Given the description of an element on the screen output the (x, y) to click on. 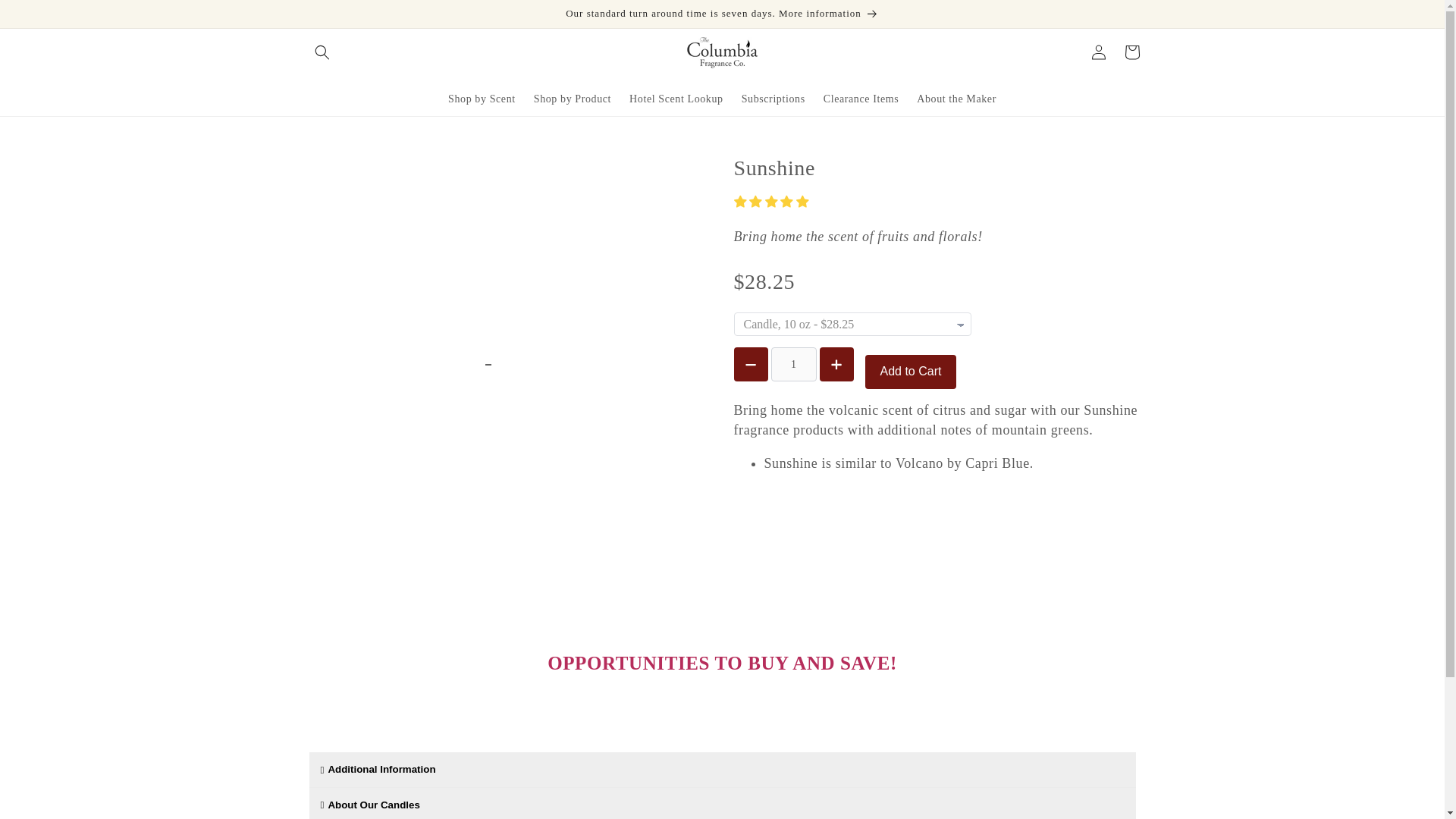
Add to Cart (910, 371)
Hotel Scent Lookup (676, 99)
Clearance Items (860, 99)
1 (792, 364)
Skip to content (45, 17)
Cart (1131, 52)
Log in (1098, 52)
Shop by Scent (481, 99)
About Our Candles (721, 803)
Subscriptions (772, 99)
